Given the description of an element on the screen output the (x, y) to click on. 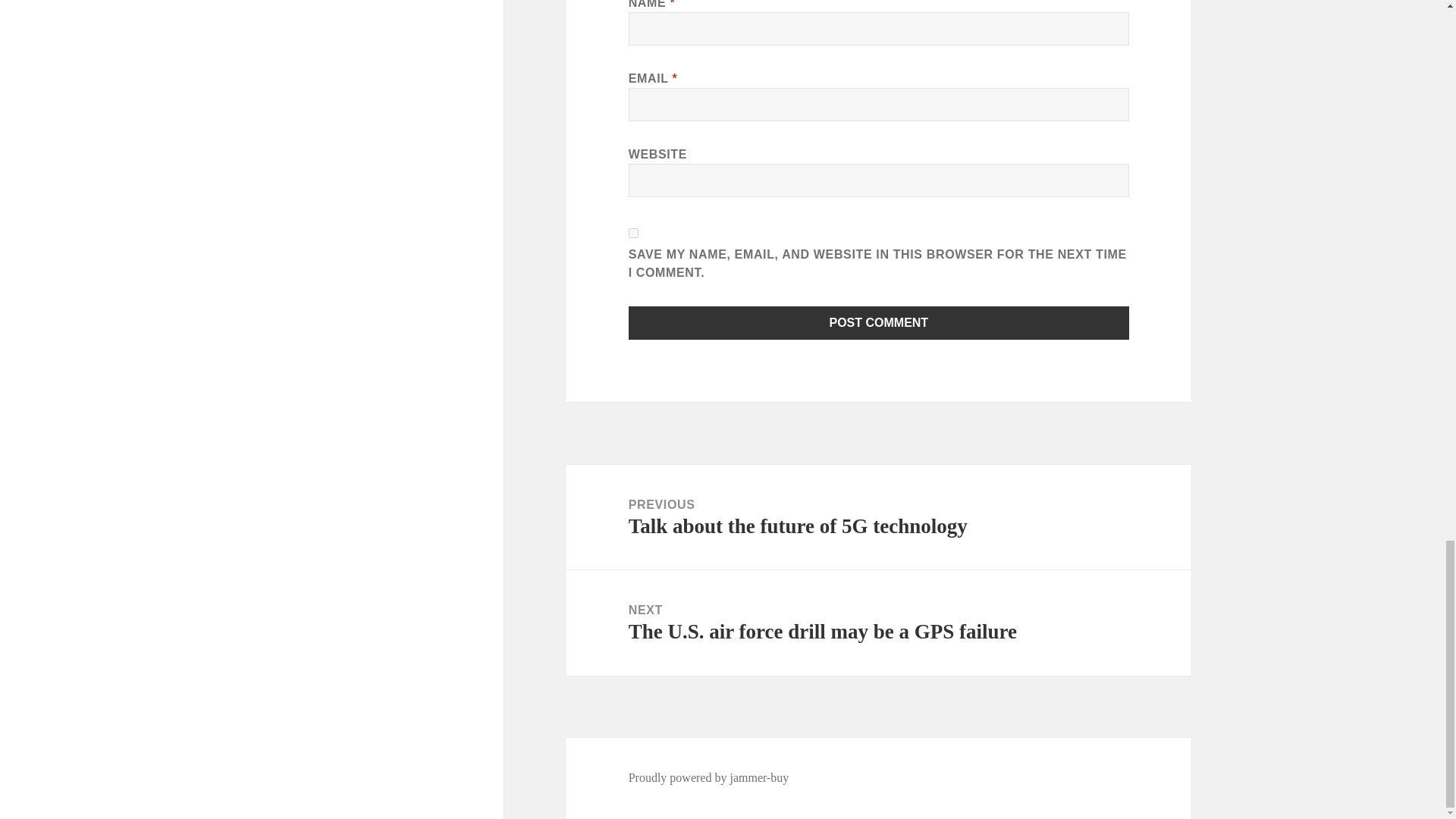
yes (633, 233)
Proudly powered by jammer-buy (708, 777)
Post Comment (878, 322)
Post Comment (878, 322)
